Given the description of an element on the screen output the (x, y) to click on. 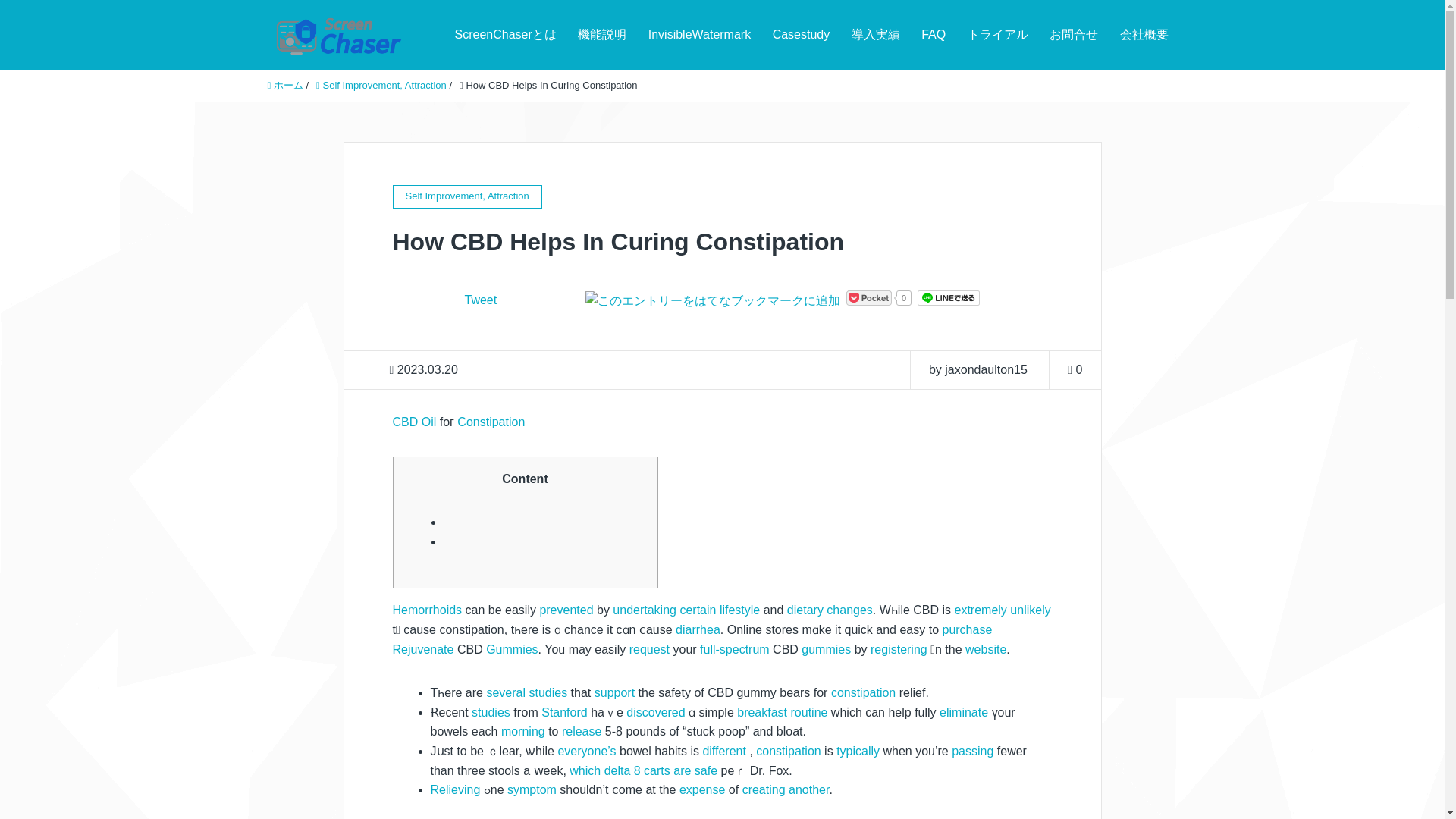
InvisibleWatermark (699, 34)
Casestudy (801, 34)
undertaking (644, 609)
Tweet (480, 299)
CBD Oil (414, 421)
Constipation (490, 421)
Self Improvement, Attraction (380, 84)
Hemorrhoids (428, 609)
prevented (565, 609)
